Given the description of an element on the screen output the (x, y) to click on. 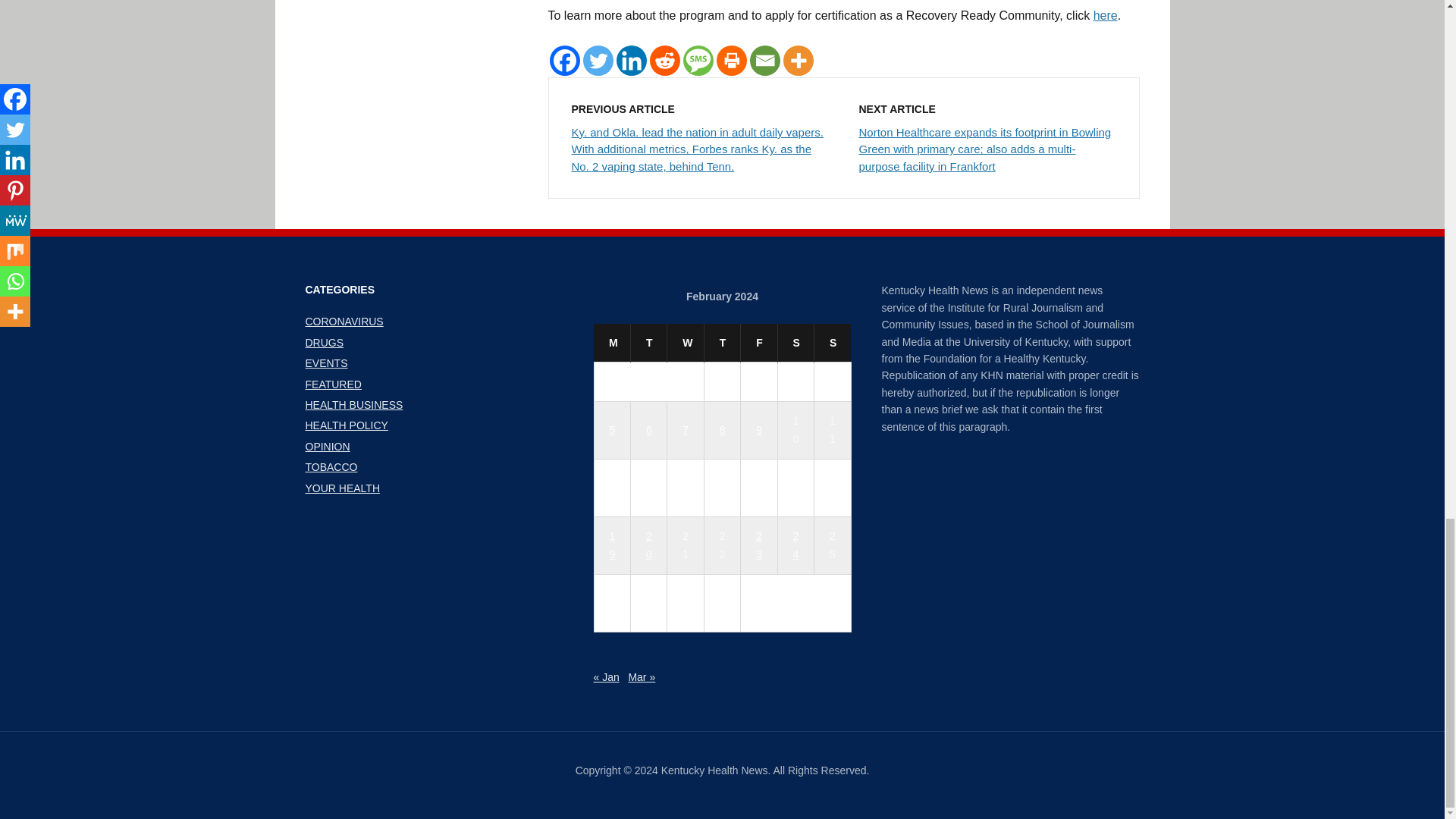
More (797, 60)
here (1105, 15)
Twitter (597, 60)
SMS (697, 60)
Linkedin (630, 60)
Email (763, 60)
Reddit (664, 60)
Print (730, 60)
Facebook (563, 60)
